Given the description of an element on the screen output the (x, y) to click on. 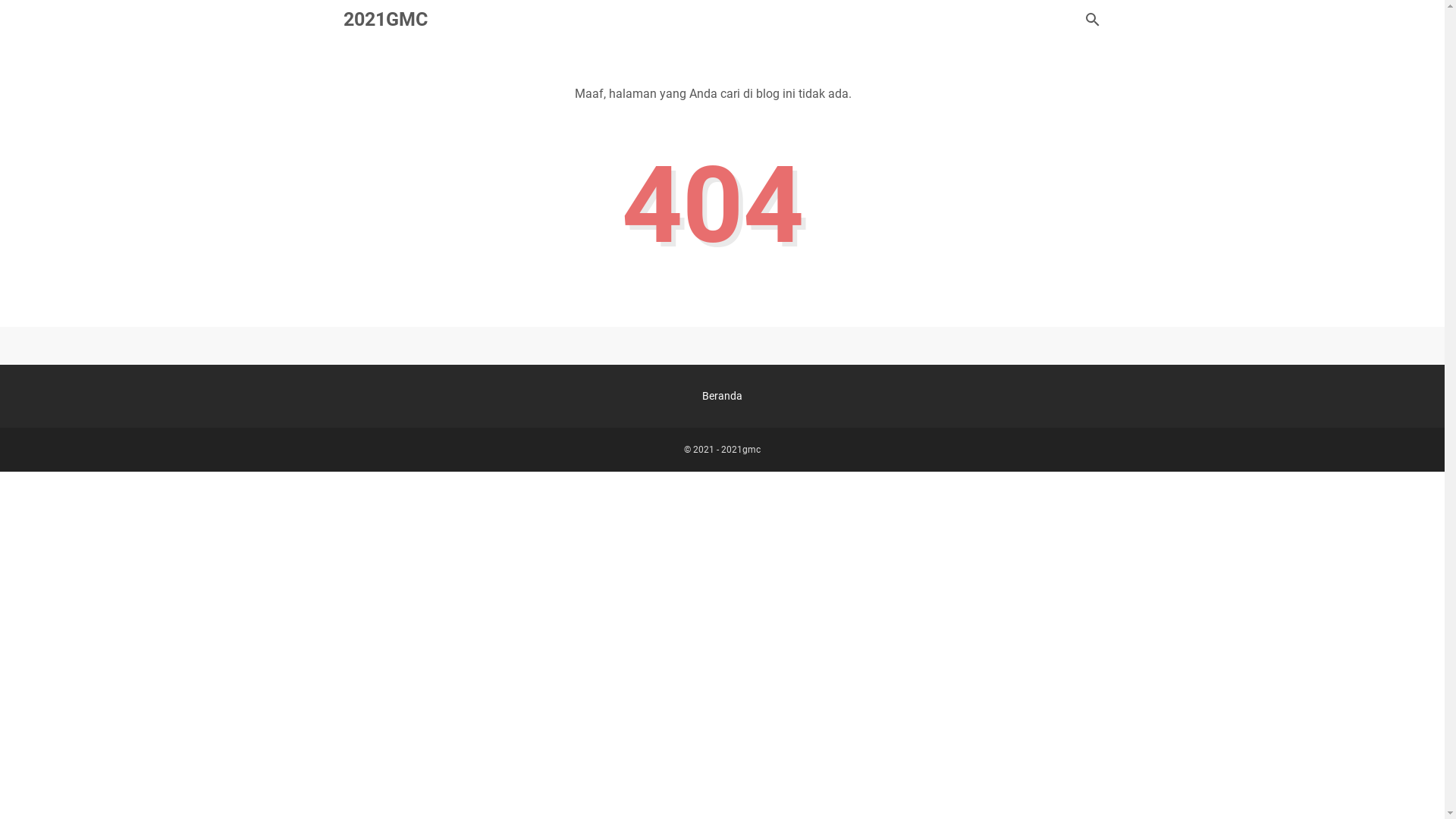
Beranda Element type: text (722, 395)
2021gmc Element type: text (740, 449)
2021GMC Element type: text (384, 19)
Cari blog ini Element type: hover (1091, 19)
